Given the description of an element on the screen output the (x, y) to click on. 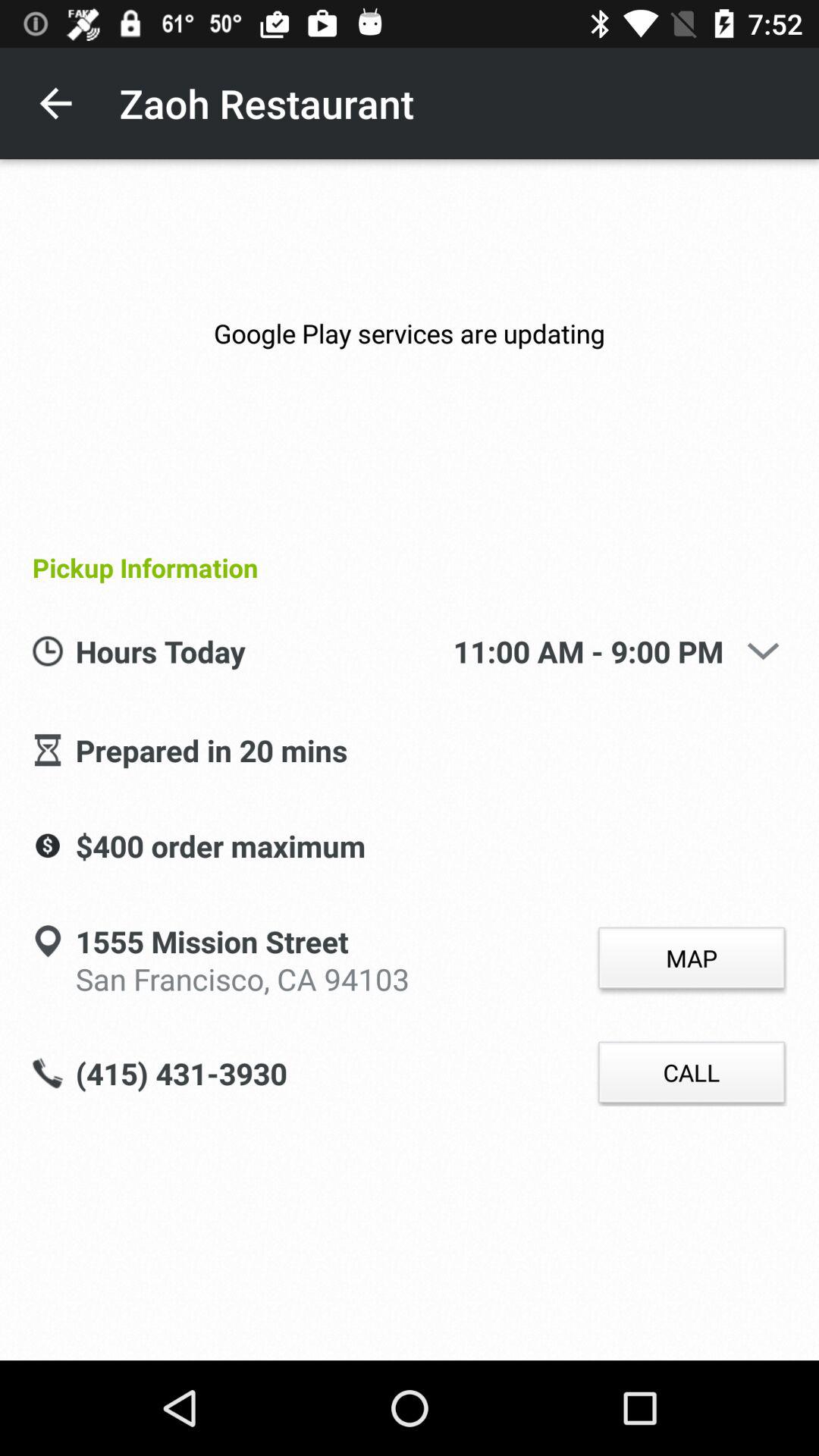
flip to the call (691, 1073)
